Given the description of an element on the screen output the (x, y) to click on. 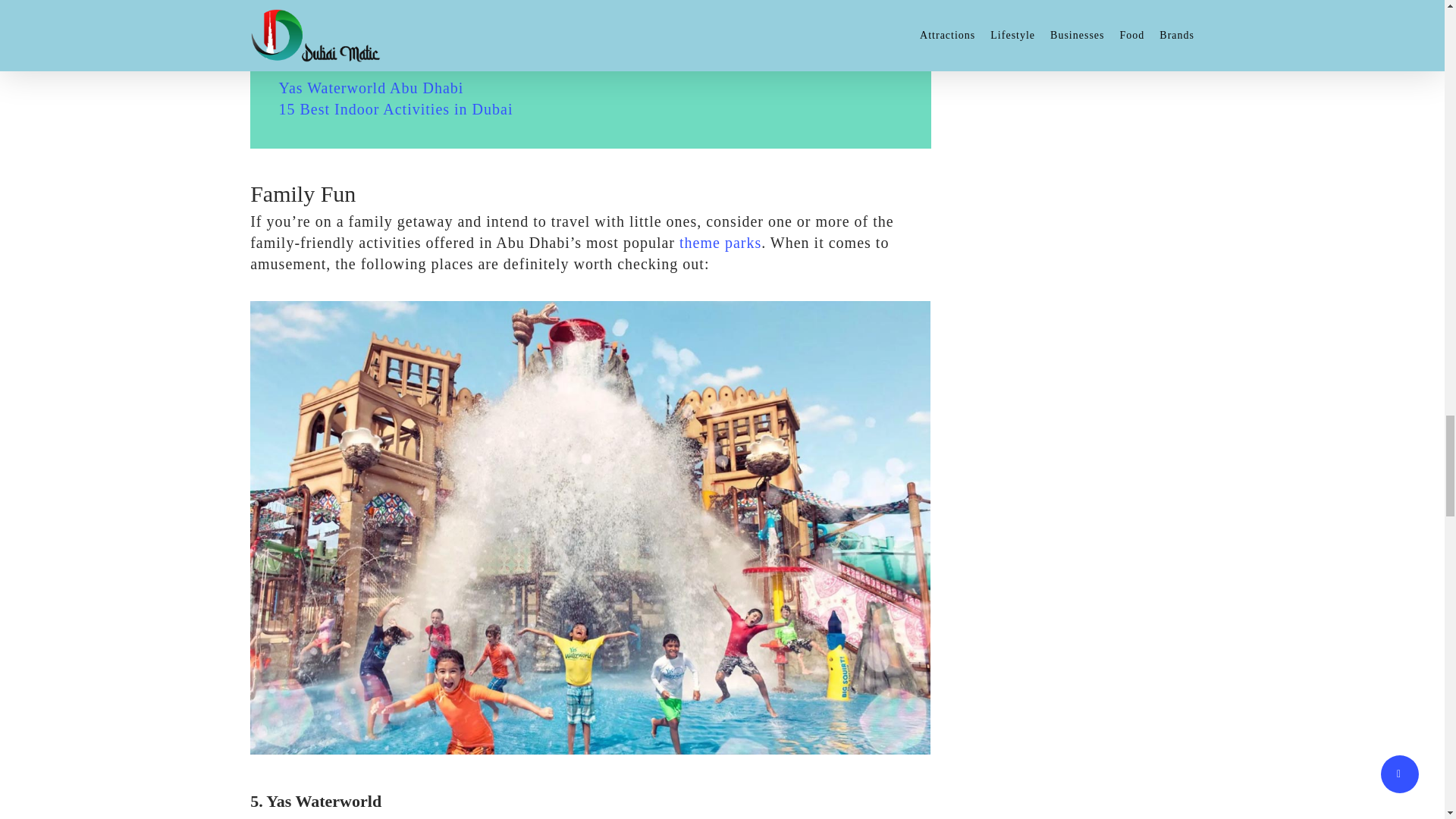
Yas Waterworld Abu Dhabi (371, 87)
15 Best Indoor Activities in Dubai (396, 108)
